Given the description of an element on the screen output the (x, y) to click on. 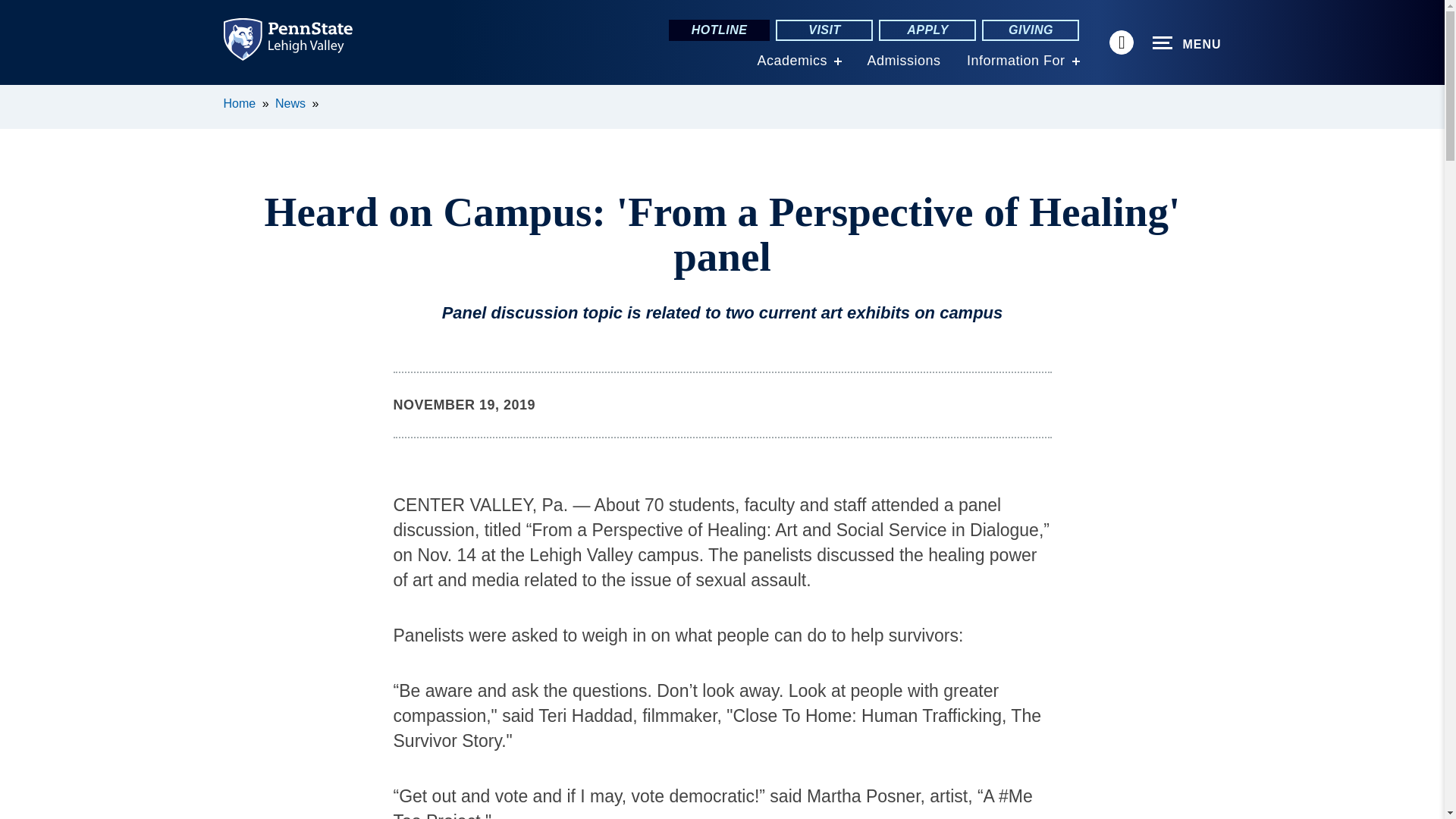
Academics (792, 60)
SKIP TO MAIN CONTENT (19, 95)
Information For (1015, 60)
HOTLINE (719, 29)
APPLY (927, 29)
VISIT (824, 29)
GIVING (1029, 29)
MENU (1187, 43)
Admissions (903, 60)
